Given the description of an element on the screen output the (x, y) to click on. 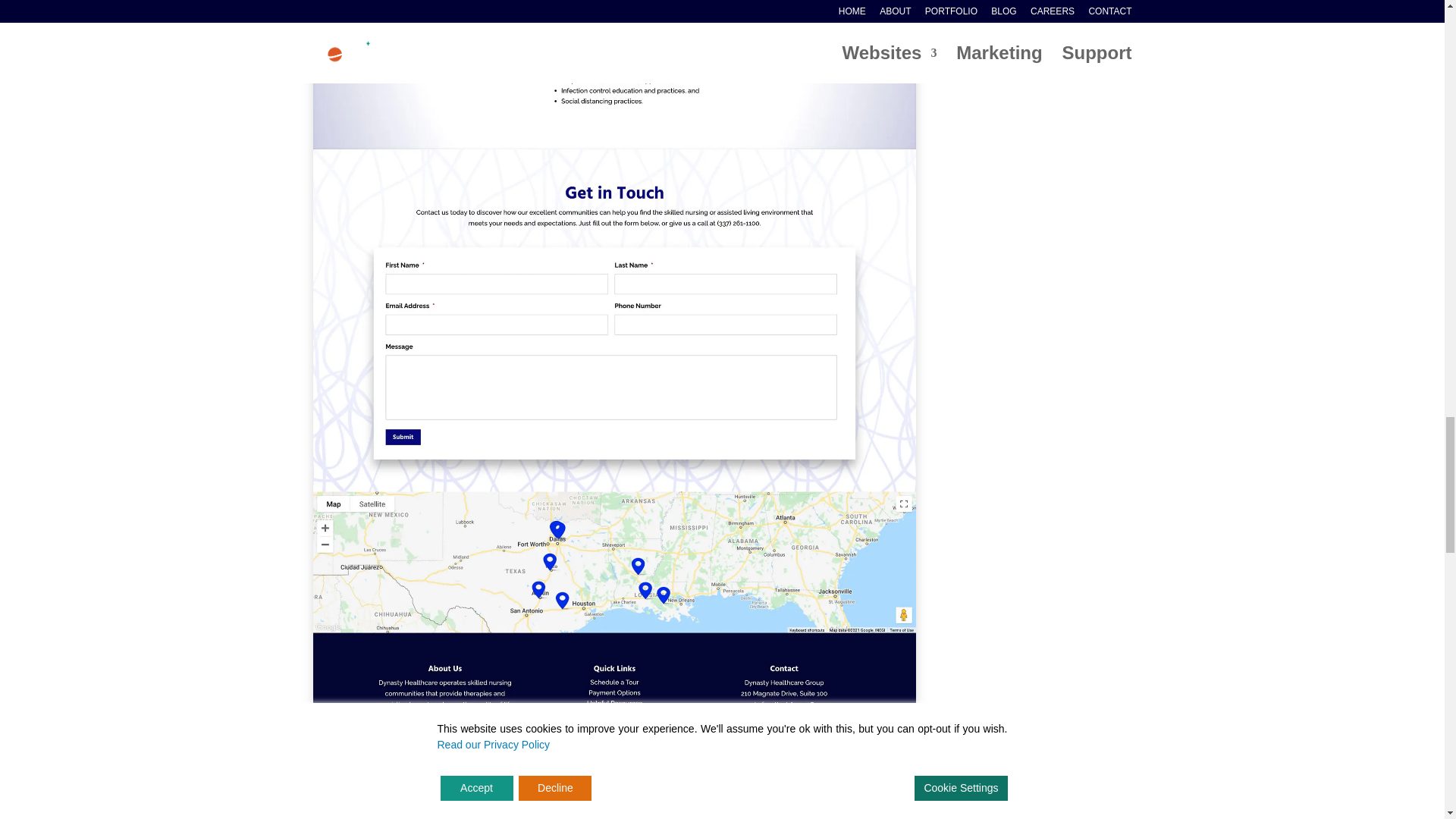
Comitdevelopers Portfolio Dynastyhealthcare Desktop (614, 782)
